Given the description of an element on the screen output the (x, y) to click on. 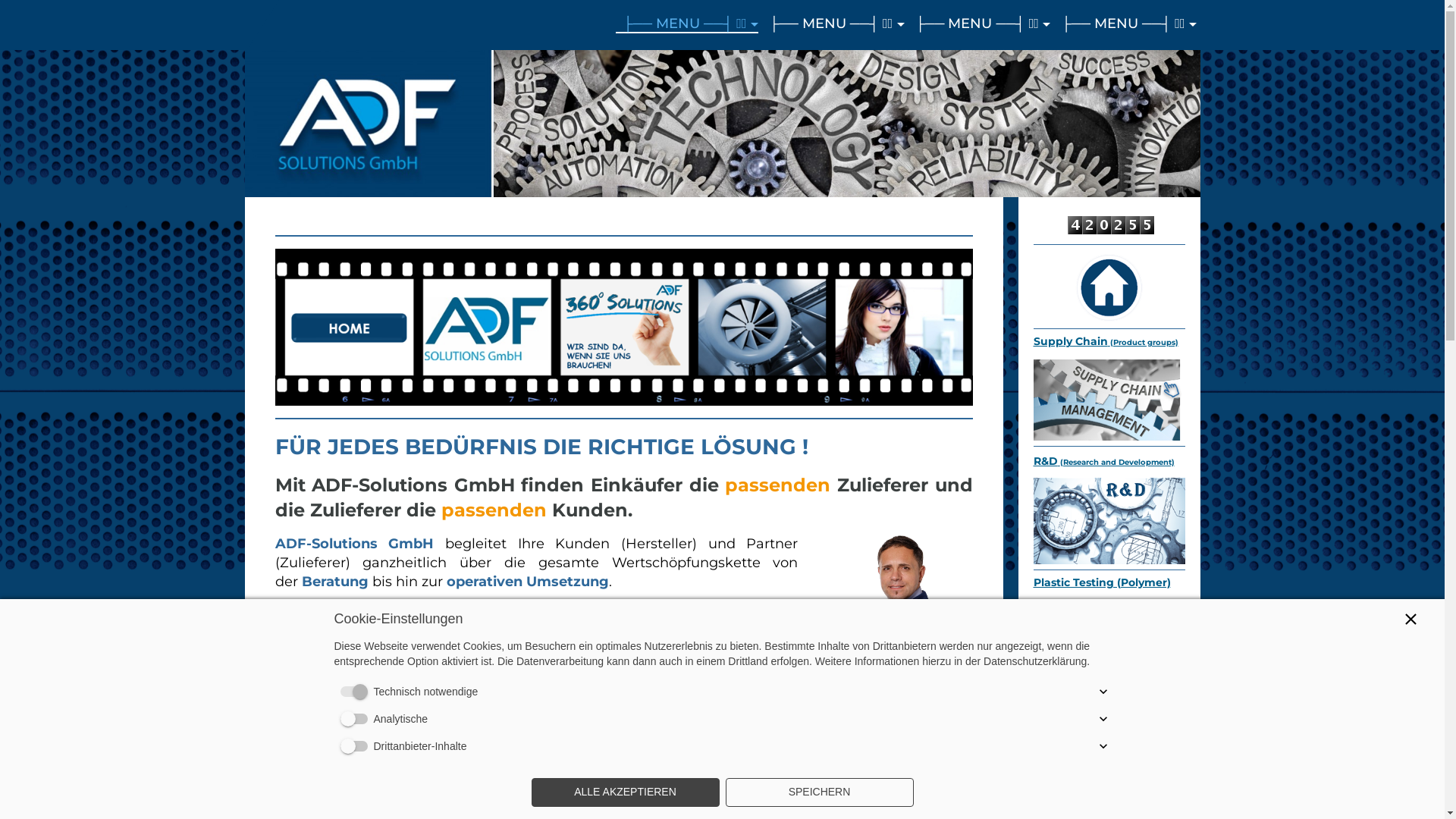
Supply Chain (Product groups) Element type: text (1104, 341)
R&D (Research and Development) Element type: text (1102, 461)
ALLE AKZEPTIEREN Element type: text (624, 792)
SPEICHERN Element type: text (818, 792)
Plastic Testing (Polymer) Element type: text (1101, 582)
